Given the description of an element on the screen output the (x, y) to click on. 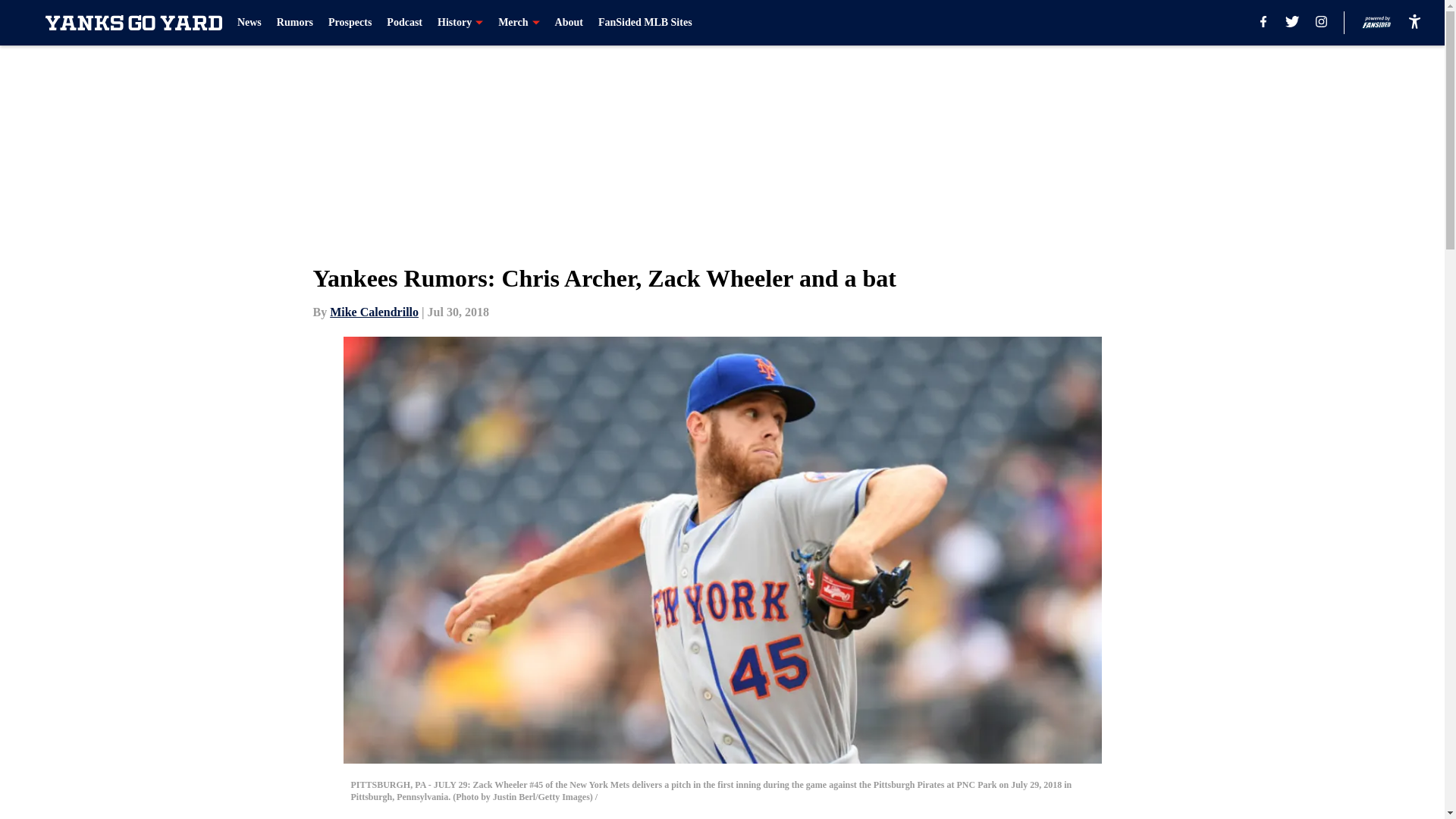
FanSided MLB Sites (645, 22)
Podcast (404, 22)
Prospects (350, 22)
Mike Calendrillo (374, 311)
News (249, 22)
About (568, 22)
Rumors (294, 22)
